Given the description of an element on the screen output the (x, y) to click on. 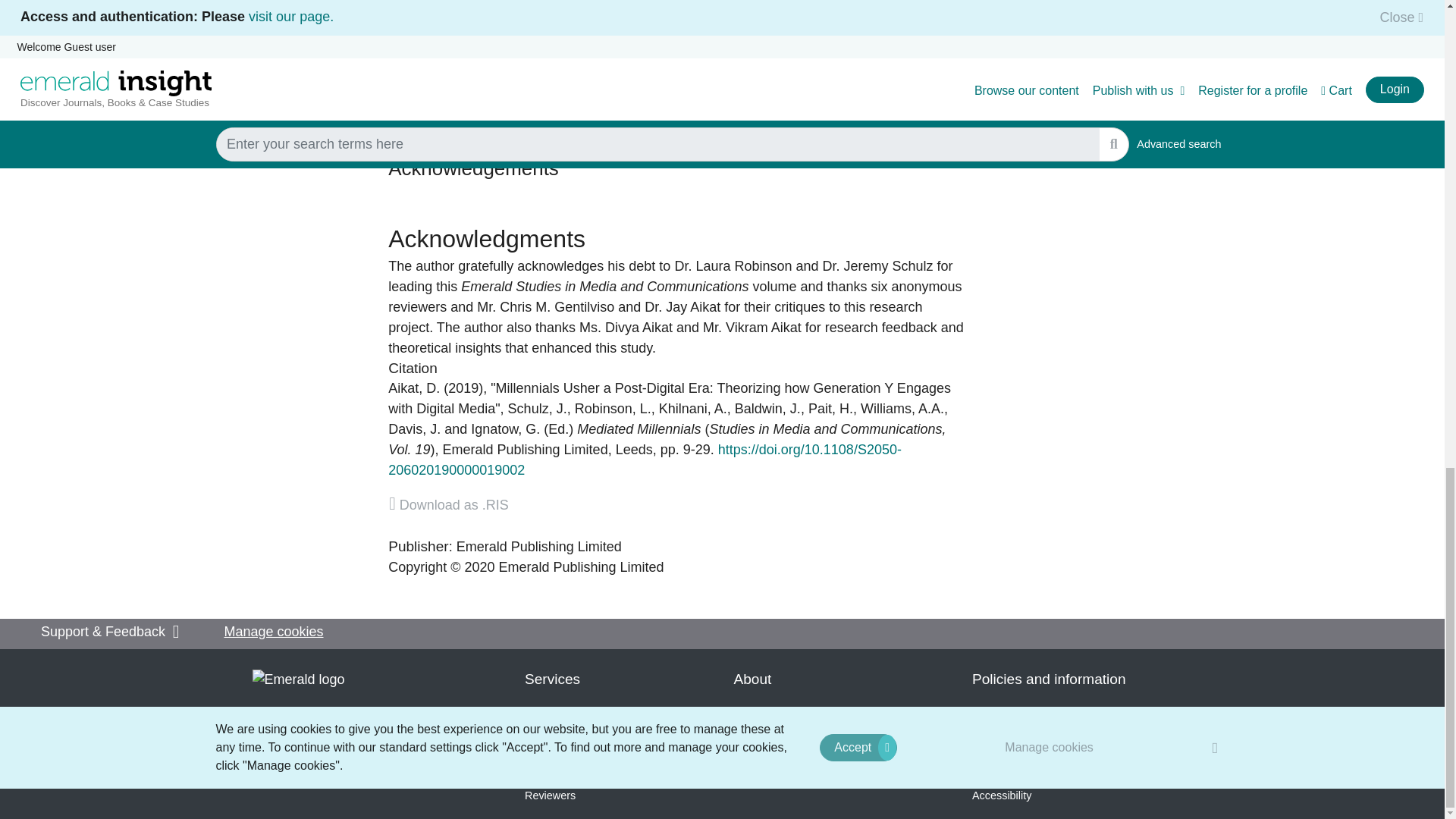
Search for keyword Generation Y media engagement (581, 64)
Search for keyword Media engagement (724, 98)
Search for keyword Post-digital era (435, 64)
Jeremy Schulz (537, 408)
Search for keyword Media consumption (525, 98)
Deb Aikat (413, 387)
Laura Robinson (612, 408)
Search for keyword Digital media engagement (863, 98)
